Given the description of an element on the screen output the (x, y) to click on. 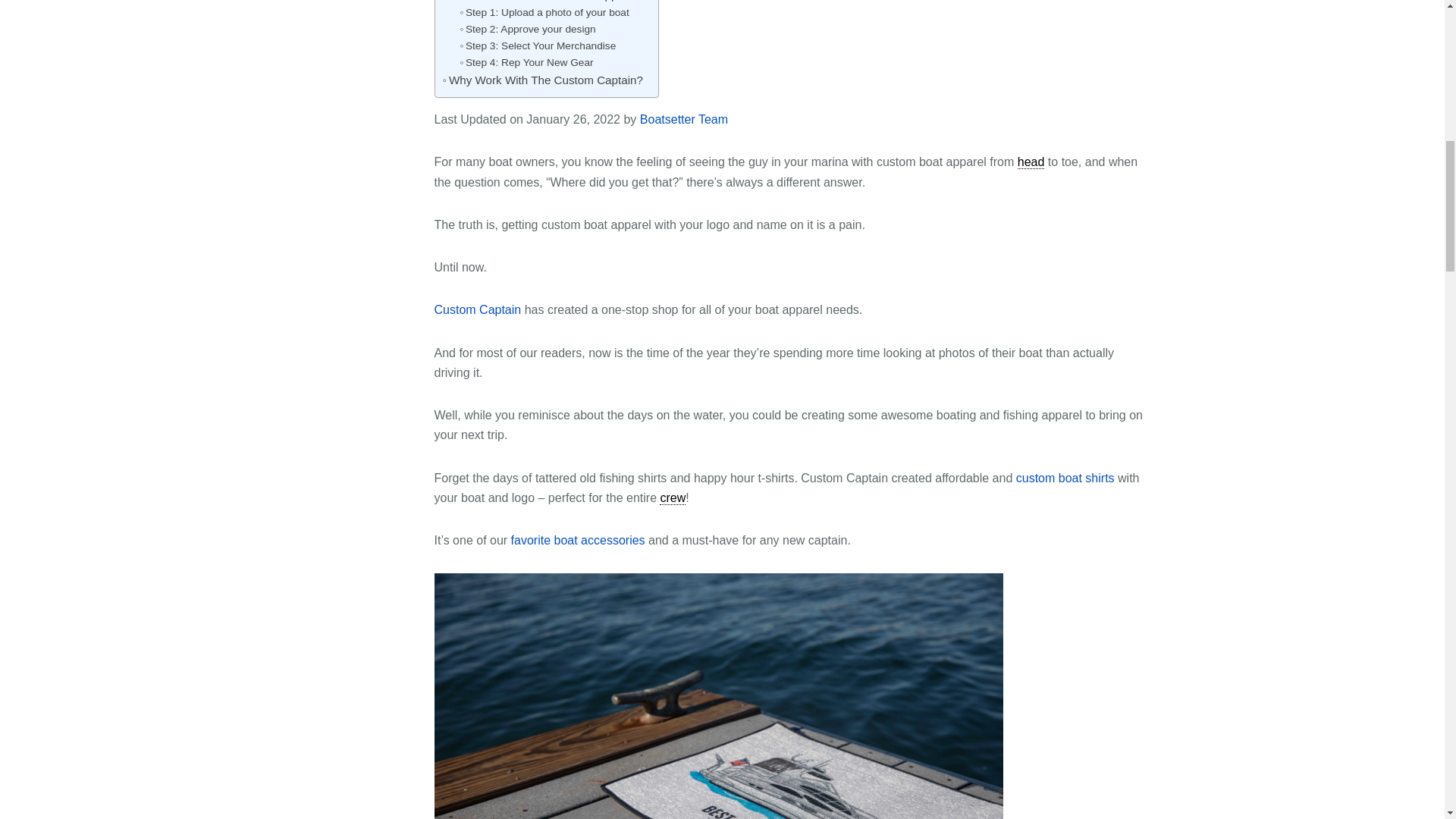
How To Create Custom Boat Apparel (539, 2)
Step 1: Upload a photo of your boat (544, 12)
Step 3: Select Your Merchandise (537, 45)
Step 4: Rep Your New Gear (526, 62)
Step 2: Approve your design (527, 29)
Why Work With The Custom Captain? (542, 80)
